Given the description of an element on the screen output the (x, y) to click on. 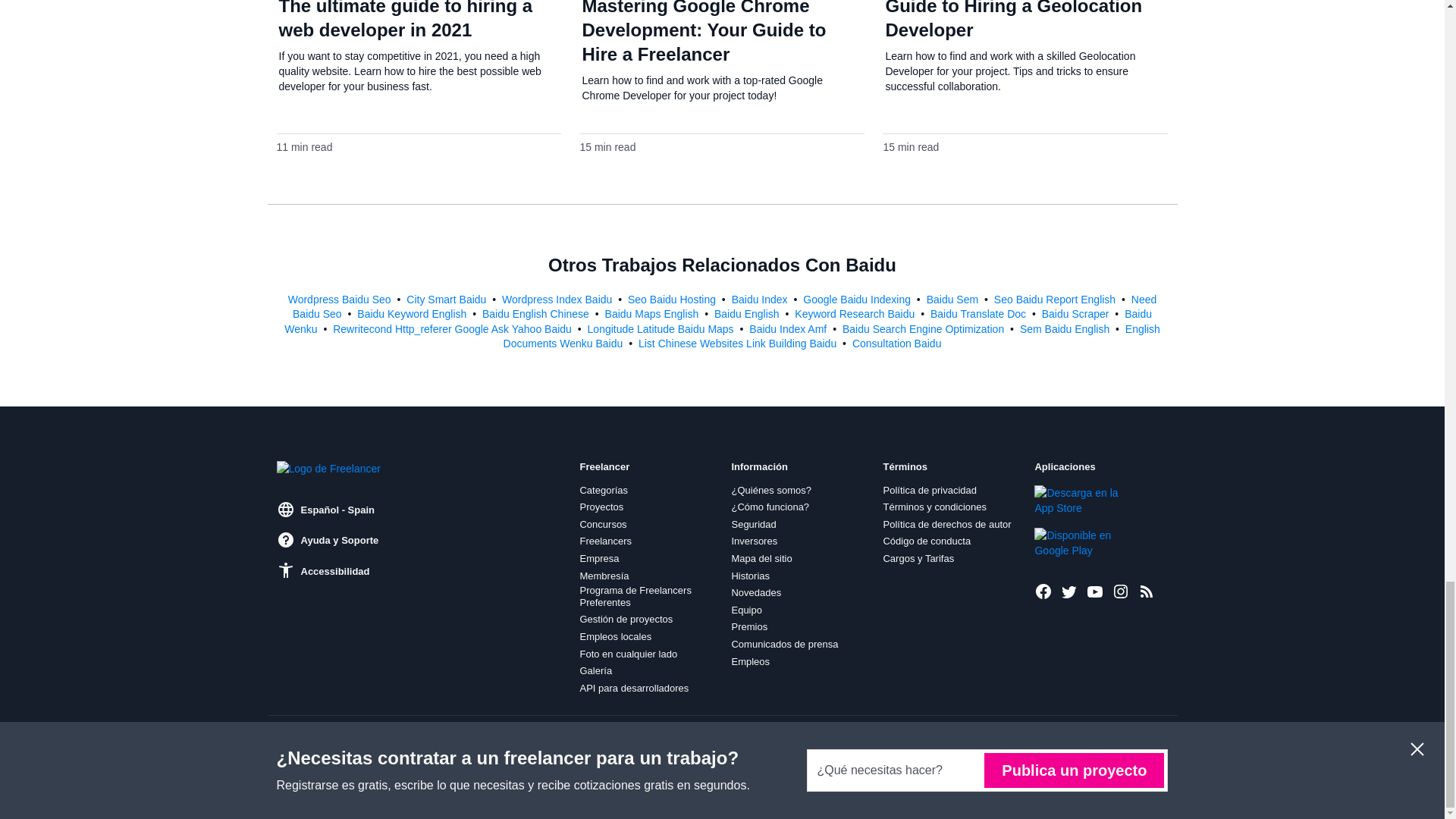
Descarga en la App Store (1085, 500)
Google Baidu Indexing (858, 299)
Wordpress Baidu Seo (341, 299)
Disponible en Google Play (1085, 542)
Baidu Index (761, 299)
Guide to Hiring a Geolocation Developer (1013, 20)
City Smart Baidu (447, 299)
Wordpress Index Baidu (558, 299)
Seo Baidu Hosting (673, 299)
